Given the description of an element on the screen output the (x, y) to click on. 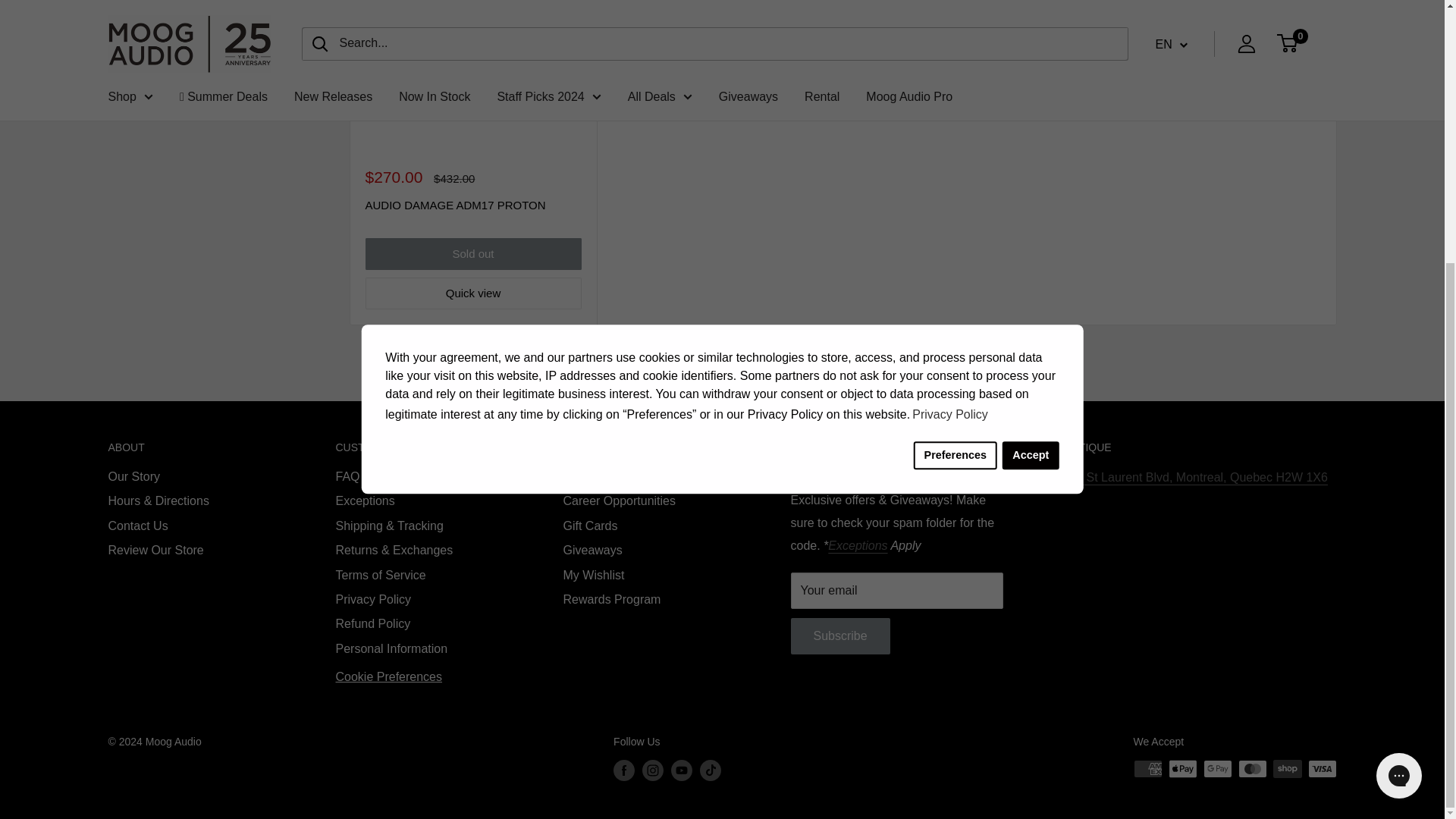
Gorgias live chat messenger (1398, 396)
